Given the description of an element on the screen output the (x, y) to click on. 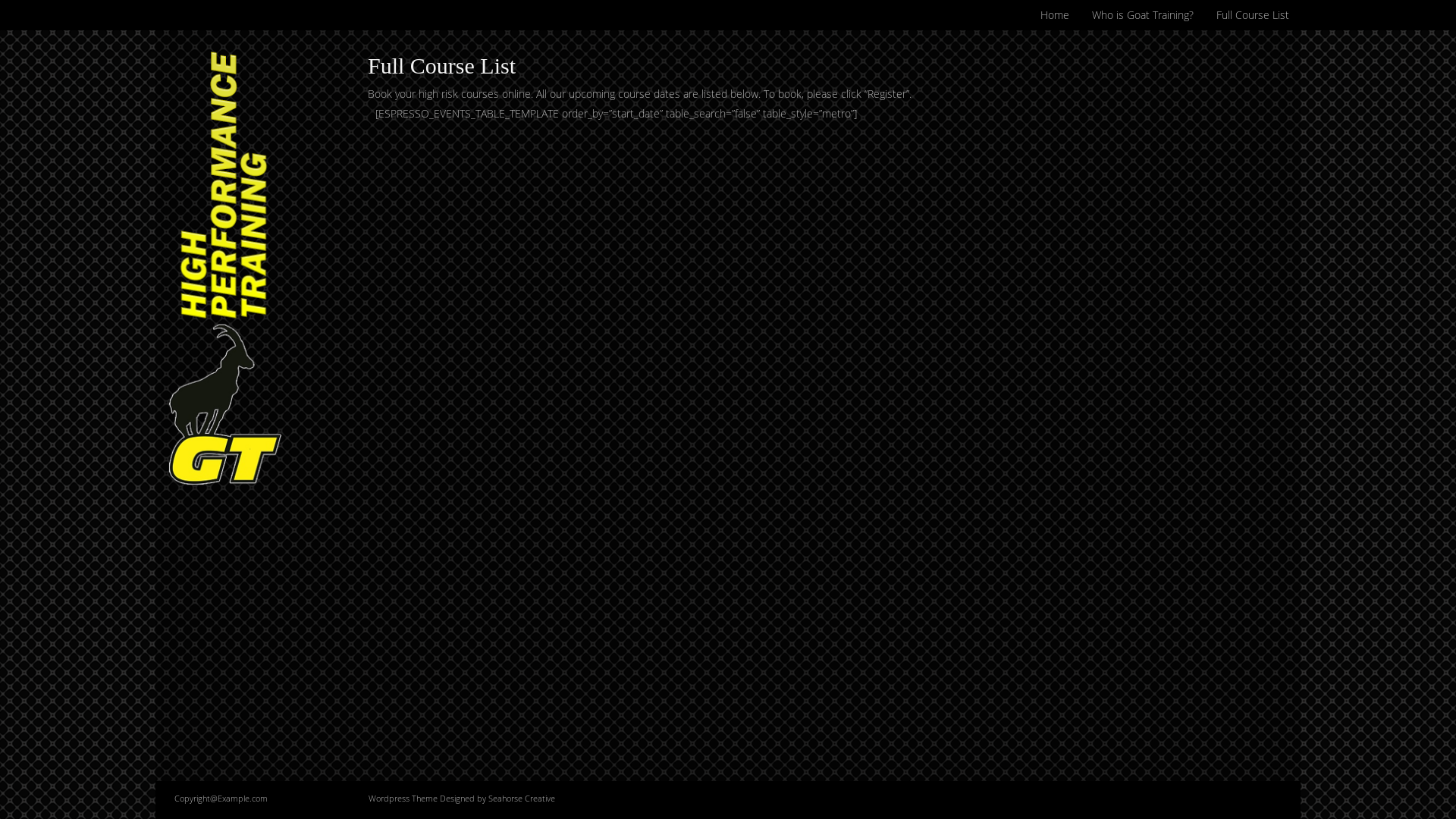
Copyright@Example.com Element type: text (220, 798)
Full Course List Element type: text (1252, 15)
Who is Goat Training? Element type: text (1142, 15)
Wordpress Theme Element type: text (403, 797)
Home Element type: text (1054, 15)
